Given the description of an element on the screen output the (x, y) to click on. 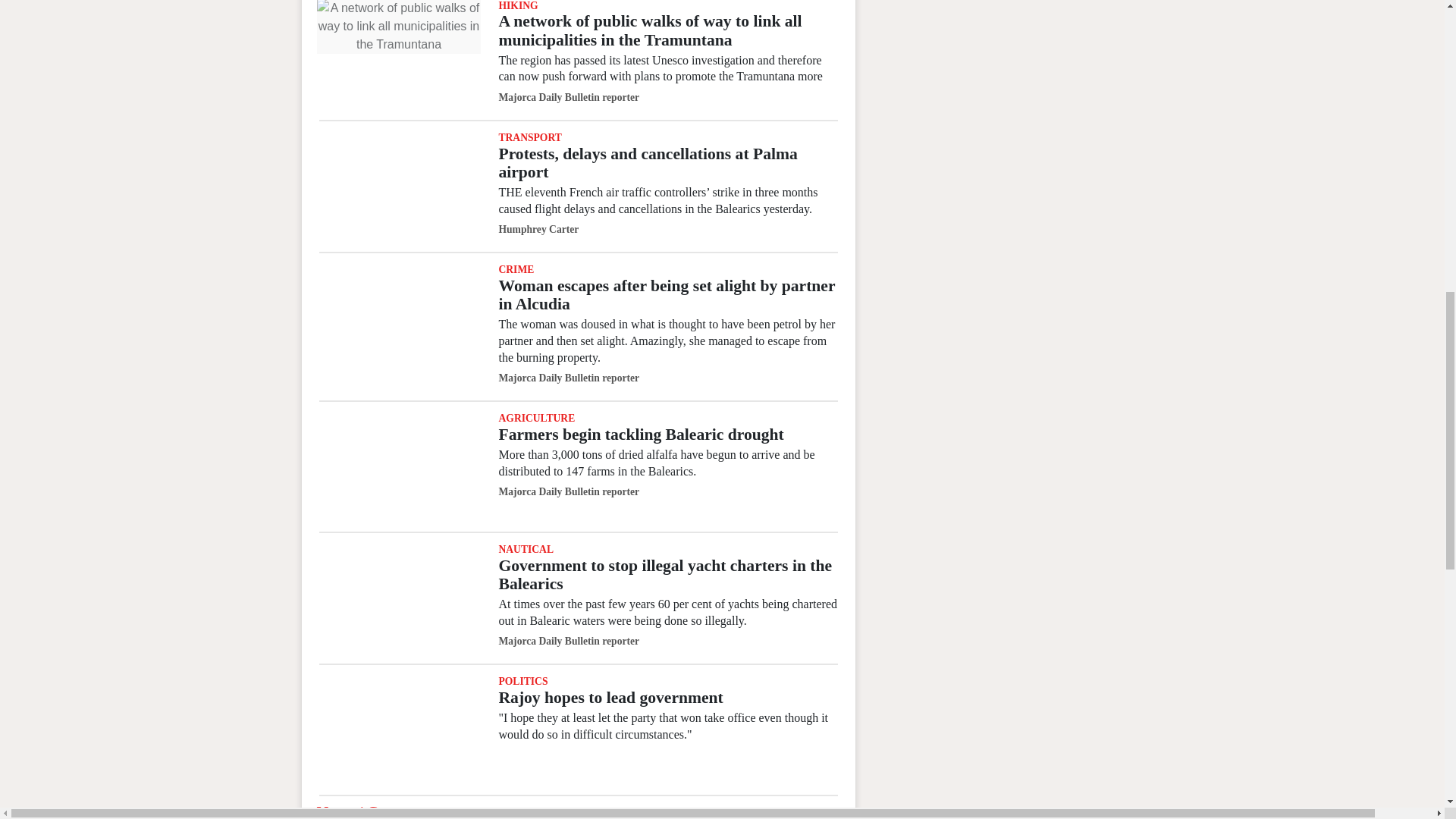
Protests, delays and cancellations at Palma airport (399, 185)
Protests, delays and cancellations at Palma airport (646, 162)
Government to stop illegal yacht charters in the Balearics (399, 597)
Rajoy hopes to lead government (399, 729)
Farmers begin tackling Balearic drought (640, 434)
Rajoy hopes to lead government (609, 697)
Farmers begin tackling Balearic drought (399, 466)
Government to stop illegal yacht charters in the Balearics (664, 574)
